Given the description of an element on the screen output the (x, y) to click on. 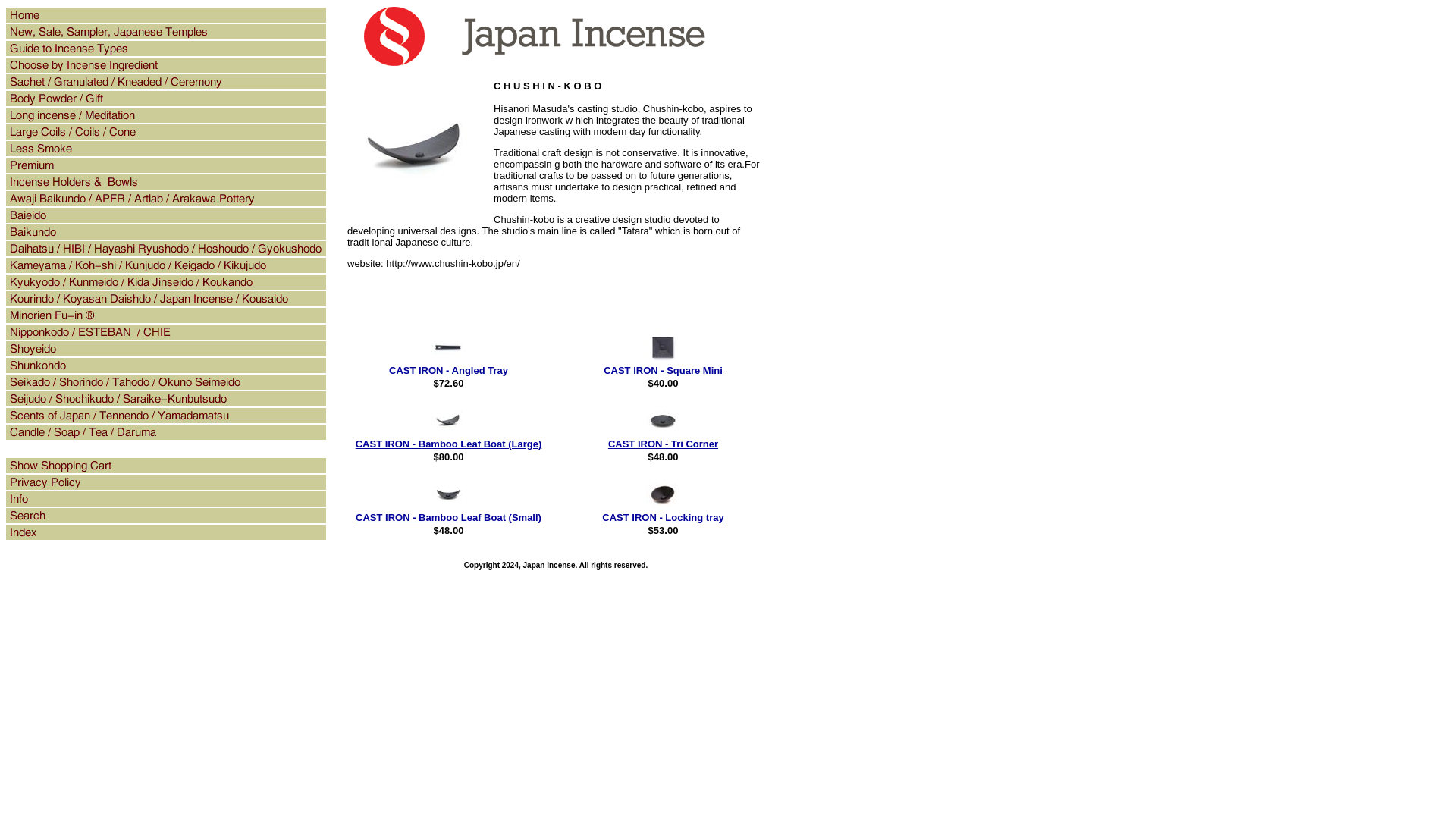
CAST IRON - Tri Corner (662, 443)
CAST IRON - Angled Tray (448, 369)
CAST IRON - Locking tray (662, 517)
CAST IRON - Square Mini (663, 369)
